Given the description of an element on the screen output the (x, y) to click on. 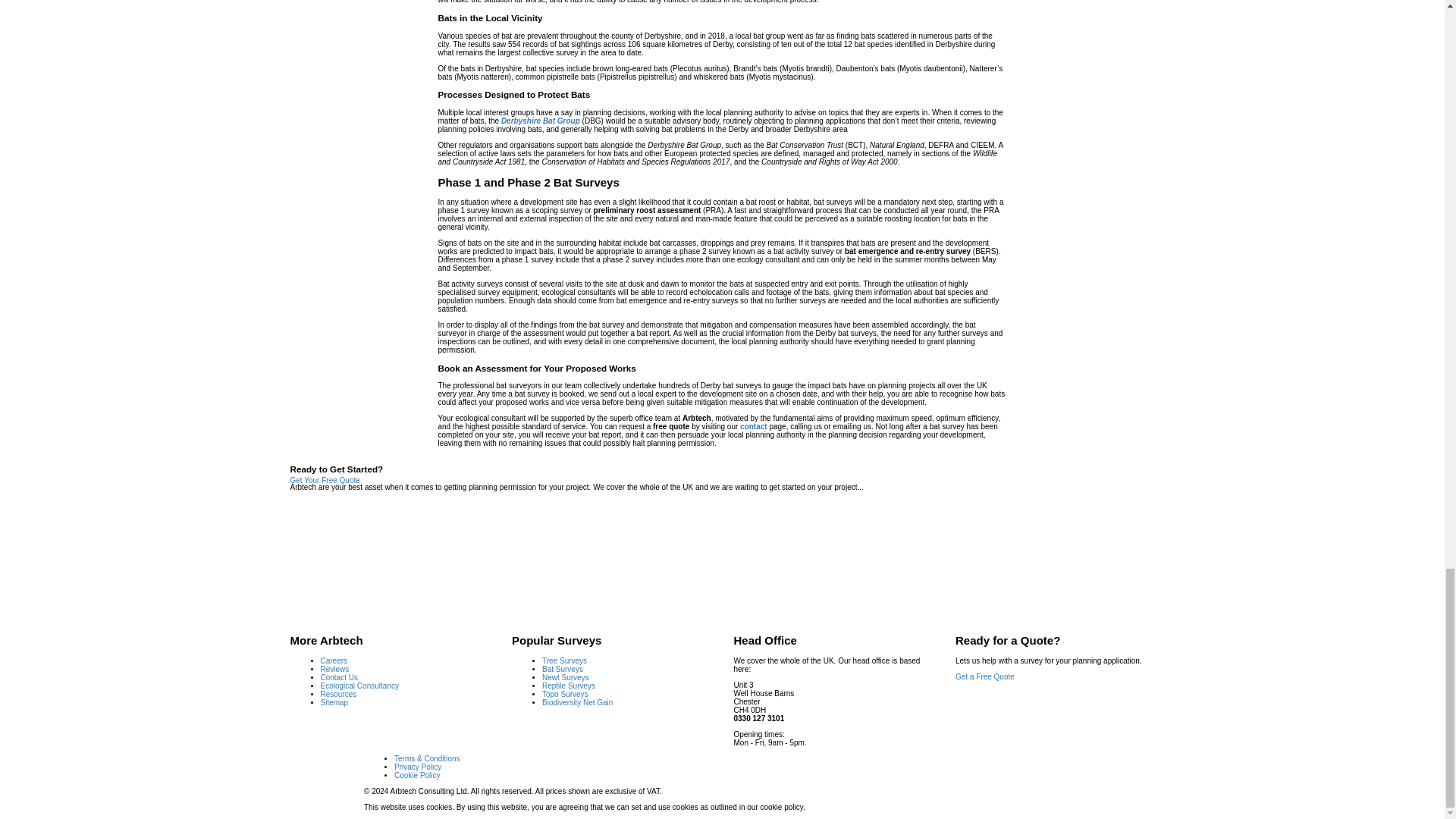
Resources (338, 694)
Derbyshire Bat Group (539, 121)
Get Your Free Quote (324, 479)
Sitemap (333, 701)
Tree Surveys (563, 660)
Ecological Consultancy (358, 684)
Newt Surveys (565, 677)
Biodiversity Net Gain (576, 701)
Reptile Surveys (568, 684)
Bat Surveys (562, 668)
contact (753, 426)
Careers (333, 660)
Topo Surveys (564, 694)
Reviews (334, 668)
Contact Us (338, 677)
